Given the description of an element on the screen output the (x, y) to click on. 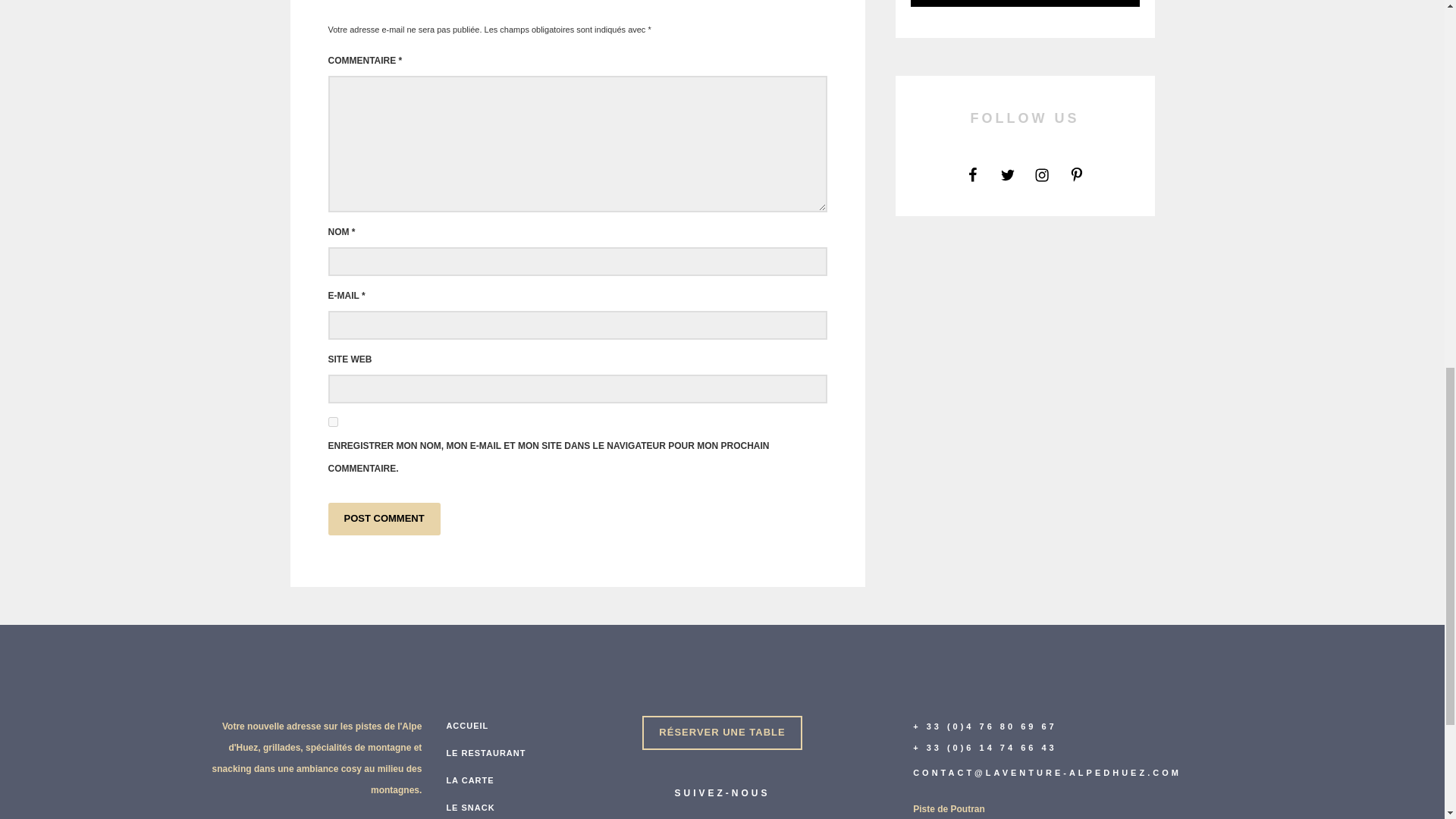
Just an icon here (972, 174)
Just an icon here (1007, 174)
Just an icon here (1076, 174)
LE SNACK (470, 807)
POST COMMENT (383, 518)
Just an icon here (972, 174)
ACCUEIL (466, 725)
POST COMMENT (383, 518)
Click me (722, 732)
yes (332, 421)
Just an icon here (1007, 174)
LA CARTE (469, 780)
Just an icon here (1007, 174)
Just an icon here (1041, 174)
LE RESTAURANT (485, 752)
